Given the description of an element on the screen output the (x, y) to click on. 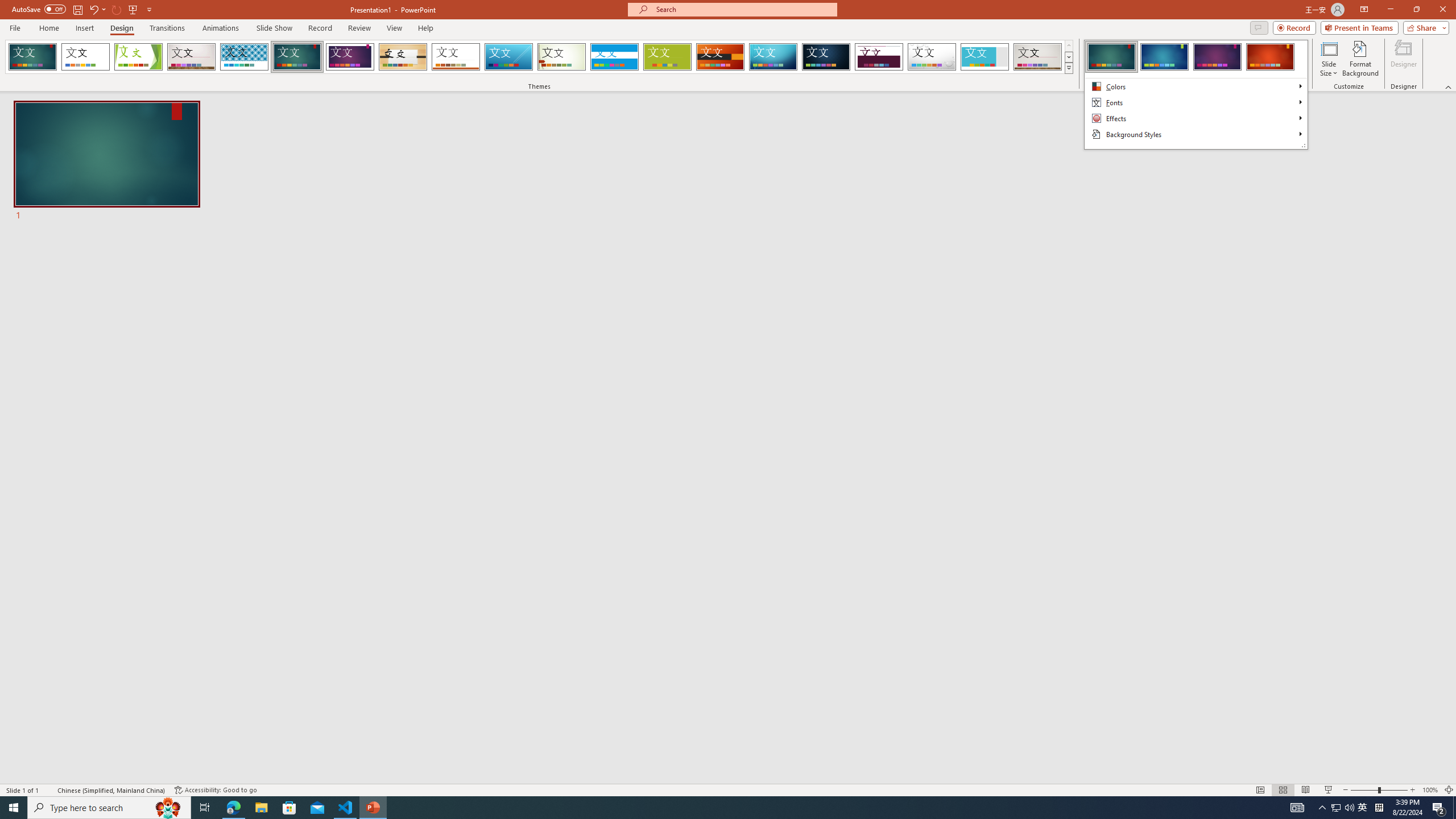
Spell Check  (49, 790)
Ion Loading Preview... (296, 56)
Slice Loading Preview... (508, 56)
Frame Loading Preview... (984, 56)
Gallery Loading Preview... (1037, 56)
Integral Loading Preview... (244, 56)
